Given the description of an element on the screen output the (x, y) to click on. 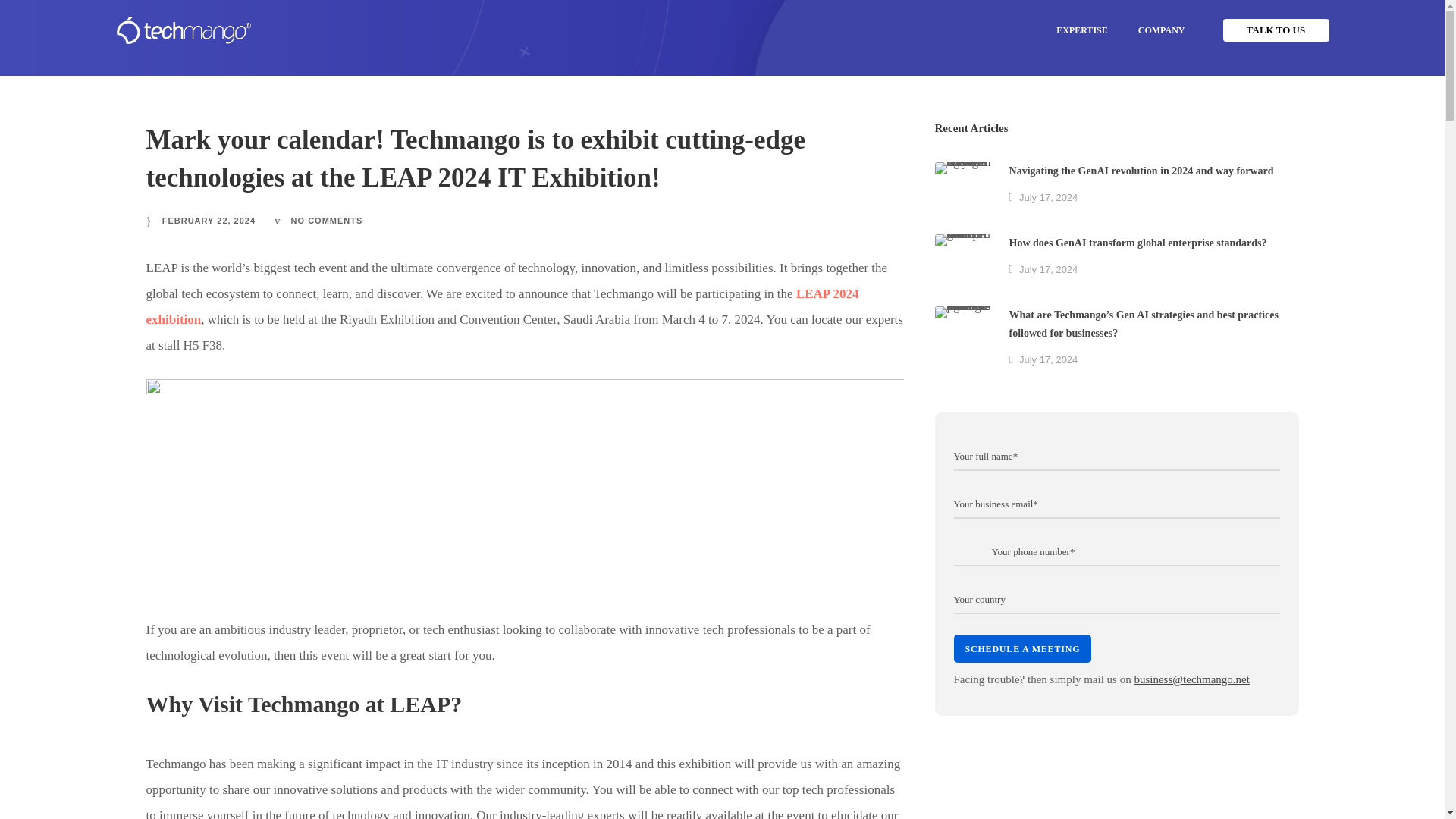
TALK TO US (1275, 29)
EXPERTISE (1081, 29)
Navigating the GenAI revolution in 2024 and way forward (962, 190)
Schedule a Meeting (1022, 648)
COMPANY (1160, 29)
How GenAI transforms global enterprise standards (962, 262)
